Given the description of an element on the screen output the (x, y) to click on. 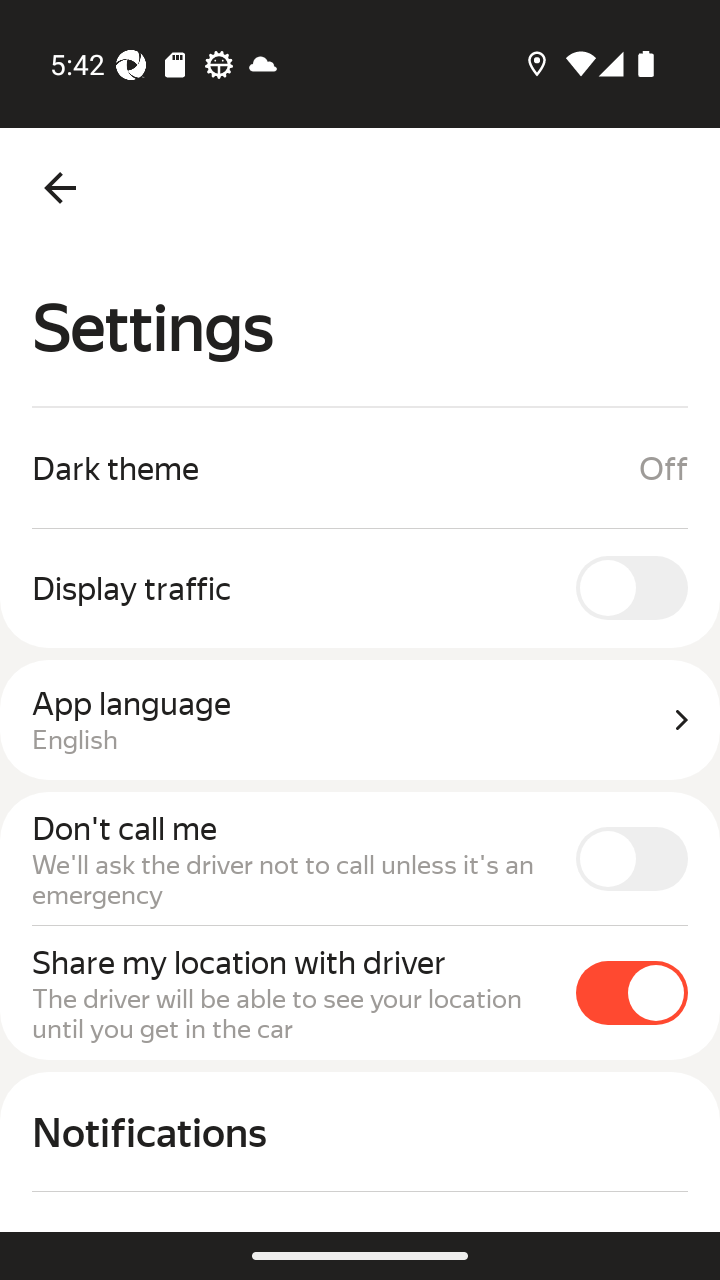
Back (60, 188)
Dark theme Dark theme Off Off (360, 467)
Display traffic (360, 587)
App language, English App language English (360, 719)
